Given the description of an element on the screen output the (x, y) to click on. 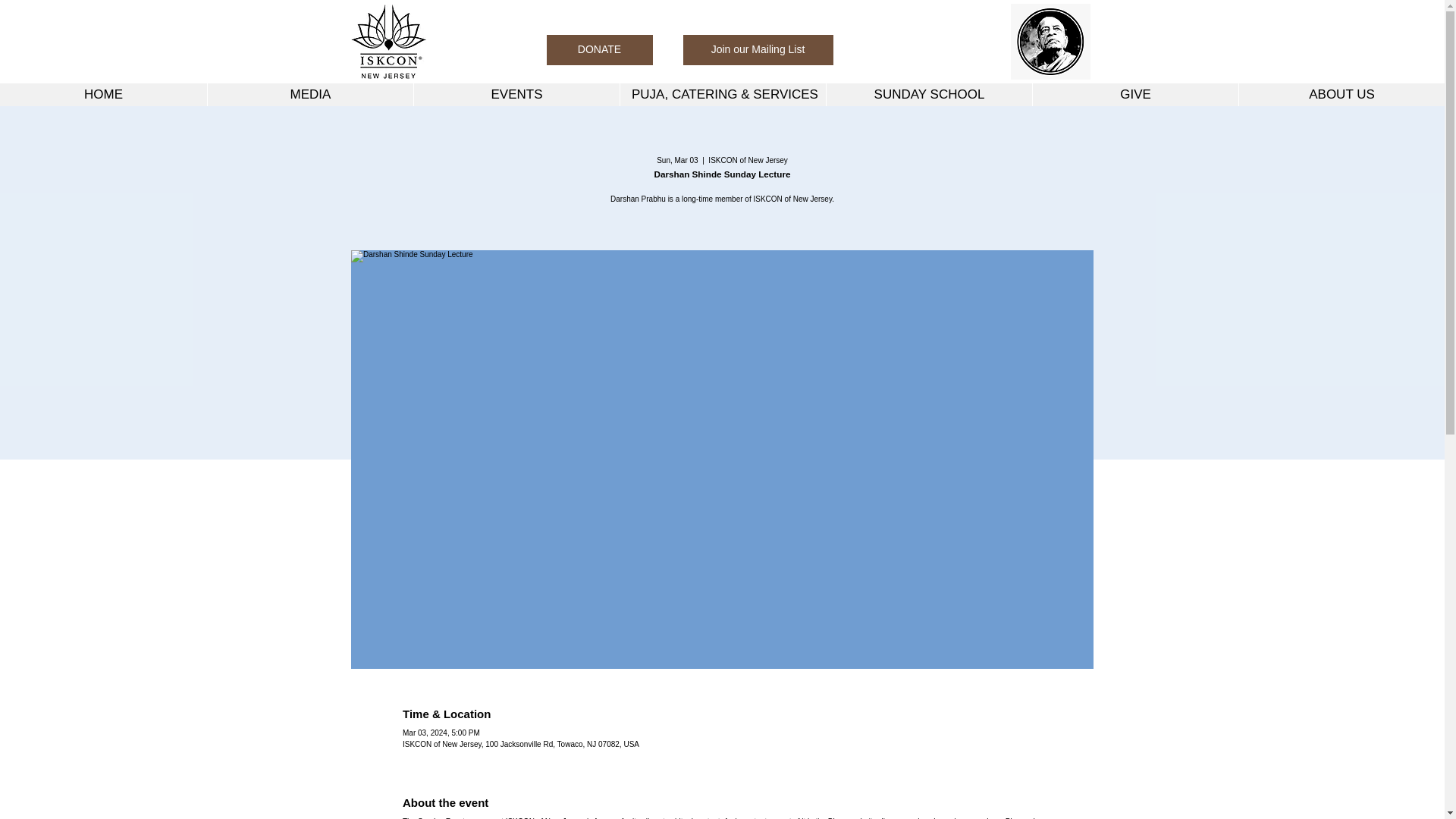
SUNDAY SCHOOL (928, 94)
GIVE (1135, 94)
EVENTS (516, 94)
MEDIA (309, 94)
DONATE (599, 50)
Join our Mailing List (757, 50)
HOME (103, 94)
